Given the description of an element on the screen output the (x, y) to click on. 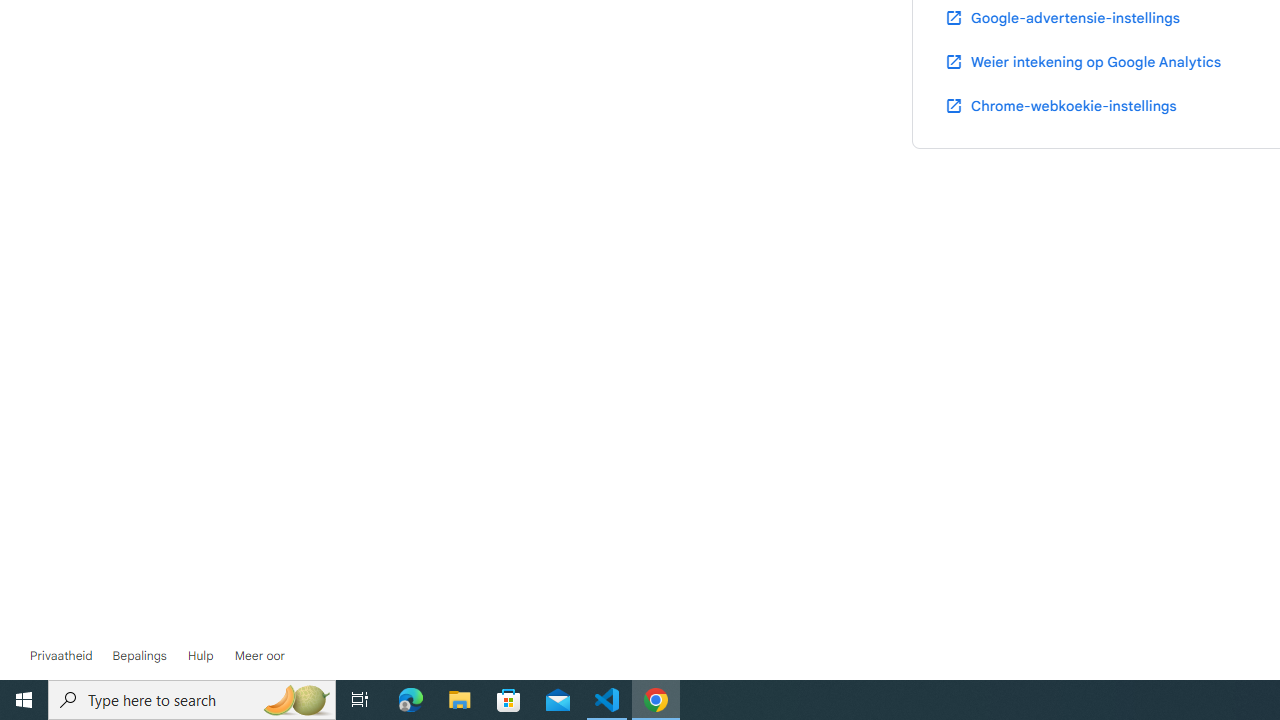
Google-advertensie-instellings (1061, 18)
Hulp (200, 655)
Kom meer te wete oor Google-rekening (259, 655)
Chrome-webkoekie-instellings (1060, 105)
Bepalings (139, 655)
Weier intekening op Google Analytics (1081, 61)
Privaatheid (61, 655)
